Given the description of an element on the screen output the (x, y) to click on. 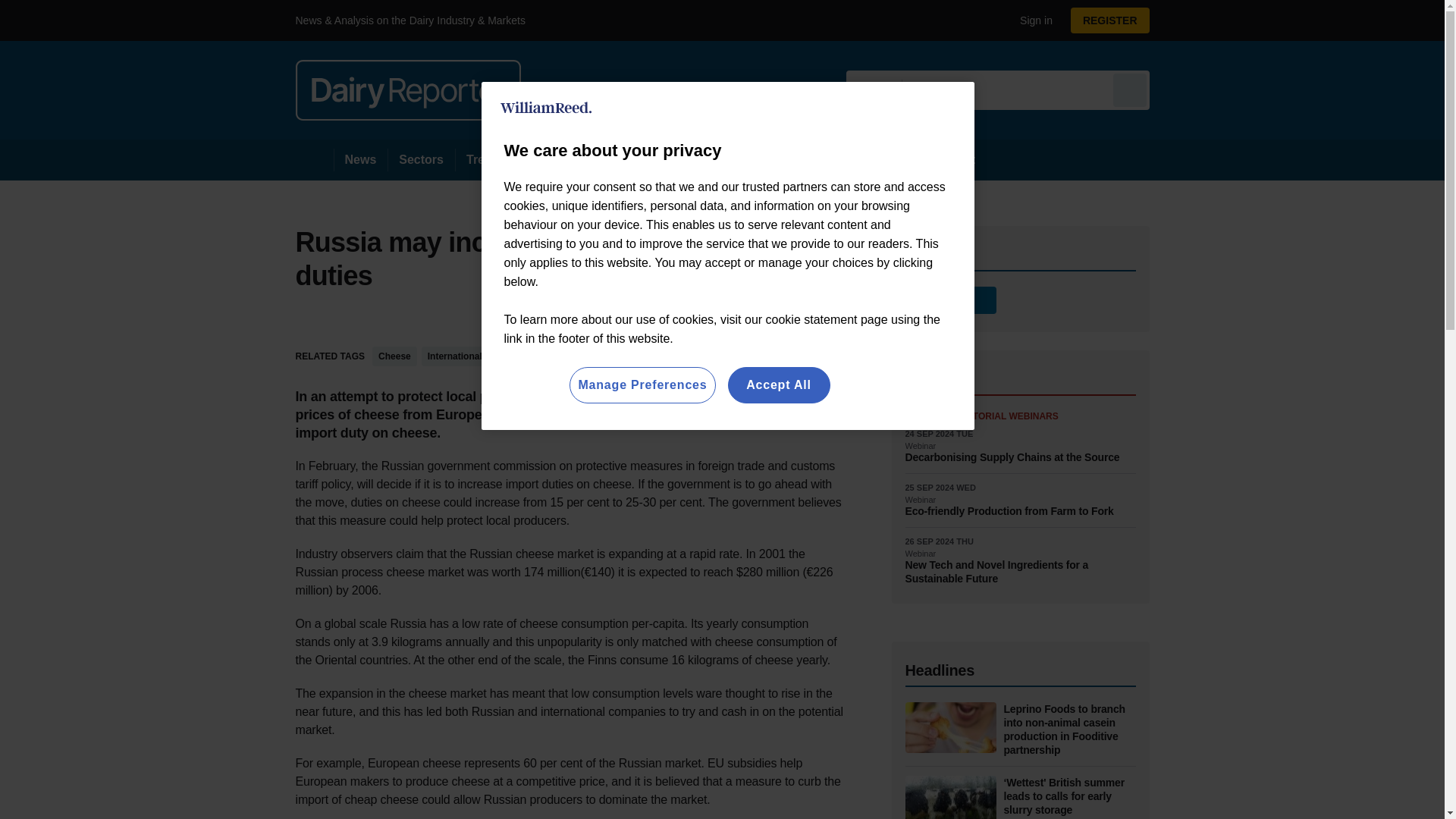
Send (1129, 89)
My account (1114, 20)
Home (314, 159)
Home (313, 159)
DairyReporter (408, 89)
Sign out (1032, 20)
REGISTER (1110, 20)
Sectors (420, 159)
News (360, 159)
Sign in (1029, 20)
William Reed (545, 107)
Send (1129, 90)
